Given the description of an element on the screen output the (x, y) to click on. 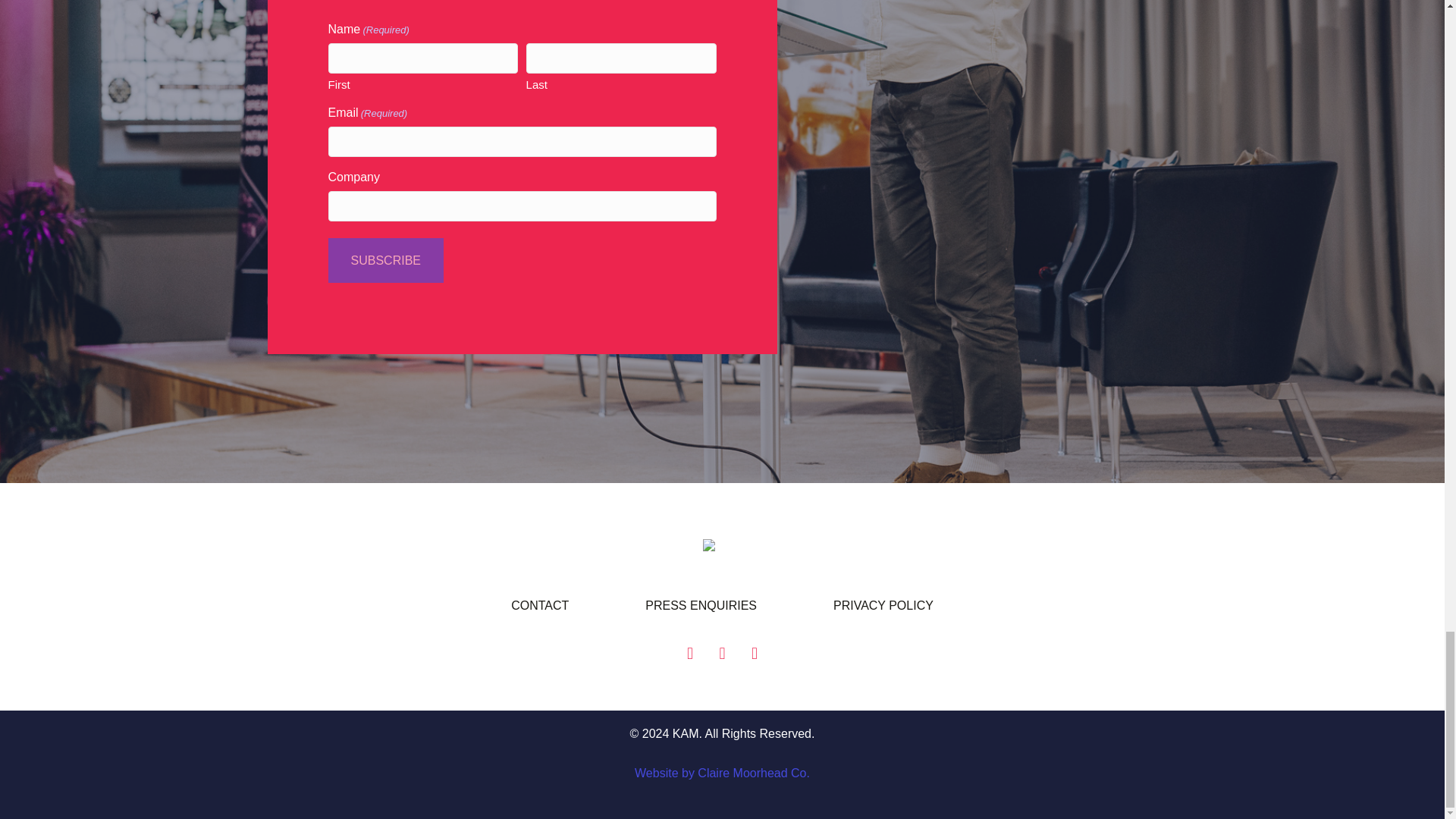
SUBSCRIBE (384, 260)
KAM Logo (722, 544)
